Given the description of an element on the screen output the (x, y) to click on. 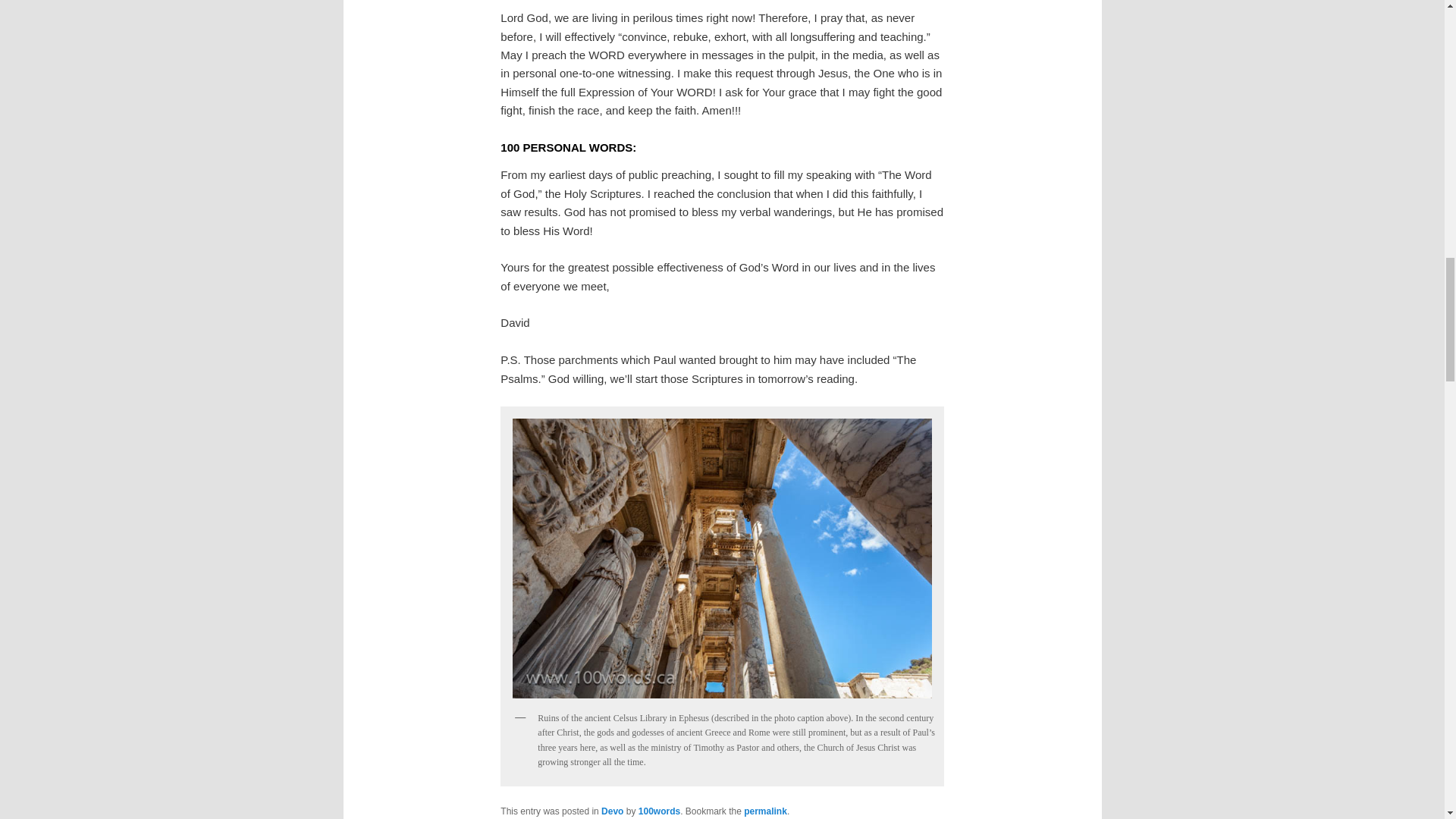
100words (659, 810)
Devo (612, 810)
permalink (765, 810)
Permalink to Saturday, September 9, 2023 (765, 810)
September 9, 2013 - extra (721, 557)
